Given the description of an element on the screen output the (x, y) to click on. 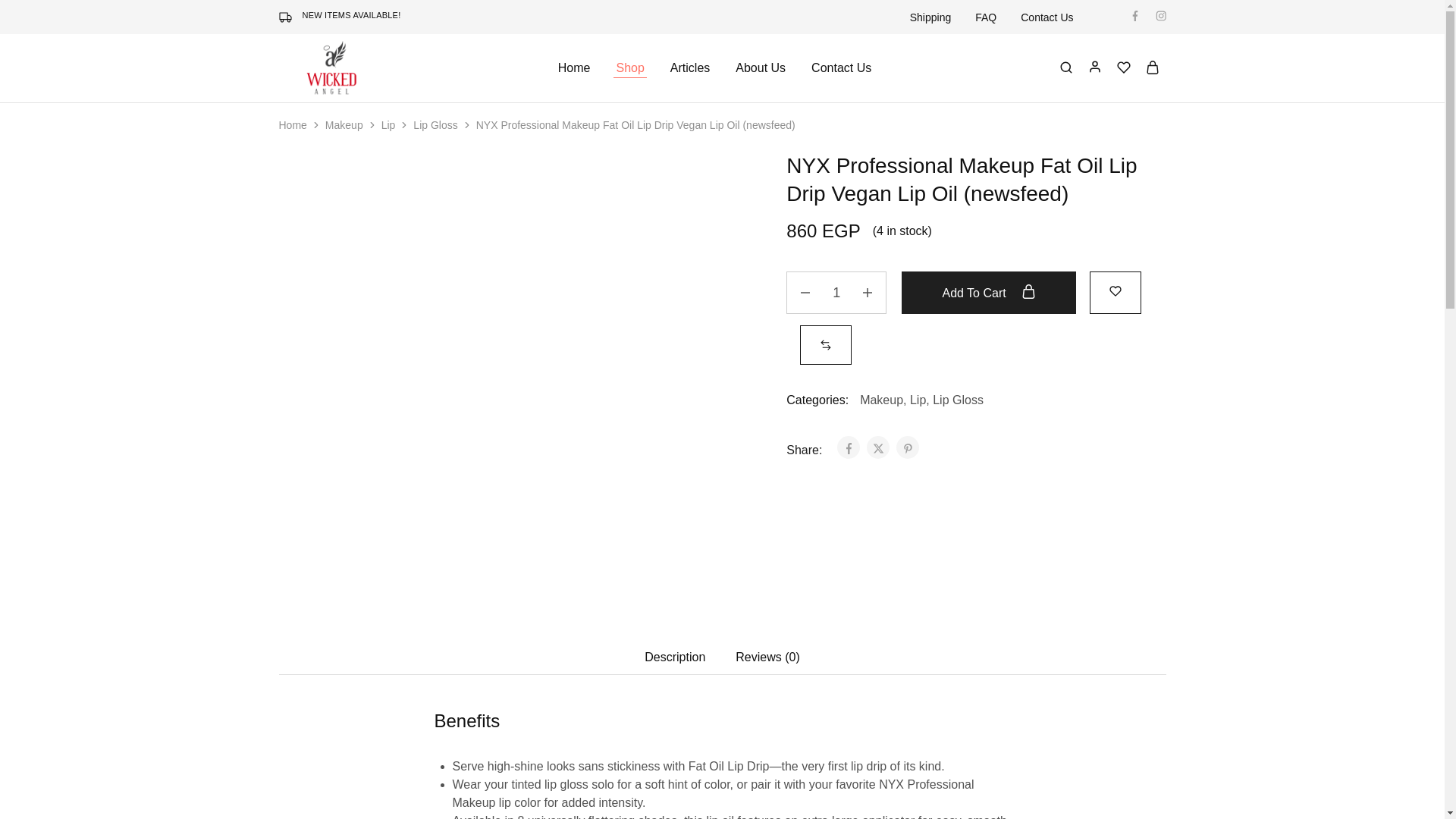
Articles (689, 67)
Makeup (343, 124)
Shipping (930, 17)
About Us (760, 67)
Contact Us (841, 67)
Home (574, 67)
FAQ (985, 17)
Home (293, 124)
Contact Us (1046, 17)
Shop (629, 67)
